Given the description of an element on the screen output the (x, y) to click on. 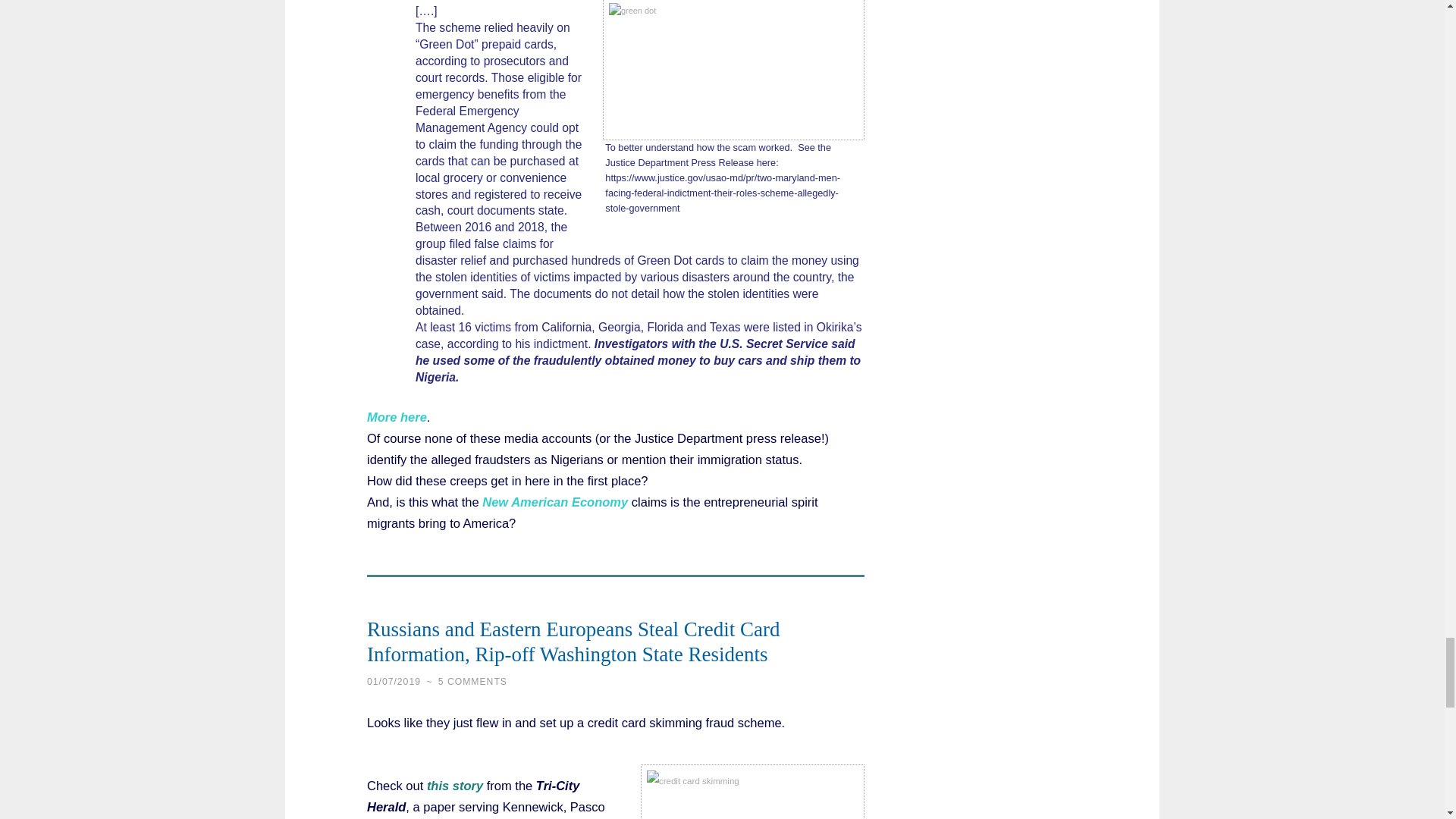
New American Economy (554, 501)
More here (396, 417)
